Given the description of an element on the screen output the (x, y) to click on. 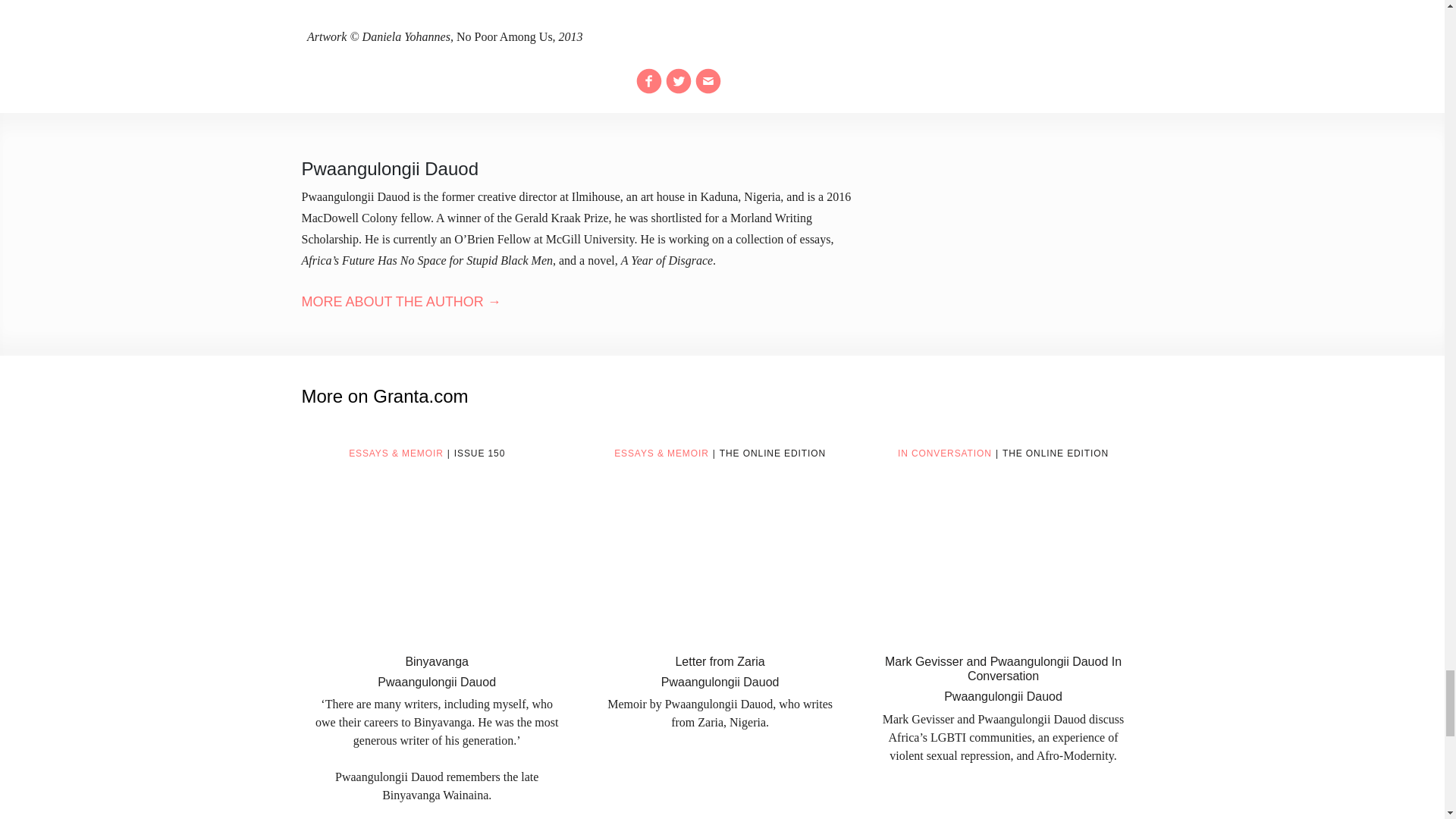
facebook-with-circle Created with Sketch. (649, 80)
mail-with-circle Created with Sketch. (707, 80)
twitter-with-circle Created with Sketch. (678, 80)
